Given the description of an element on the screen output the (x, y) to click on. 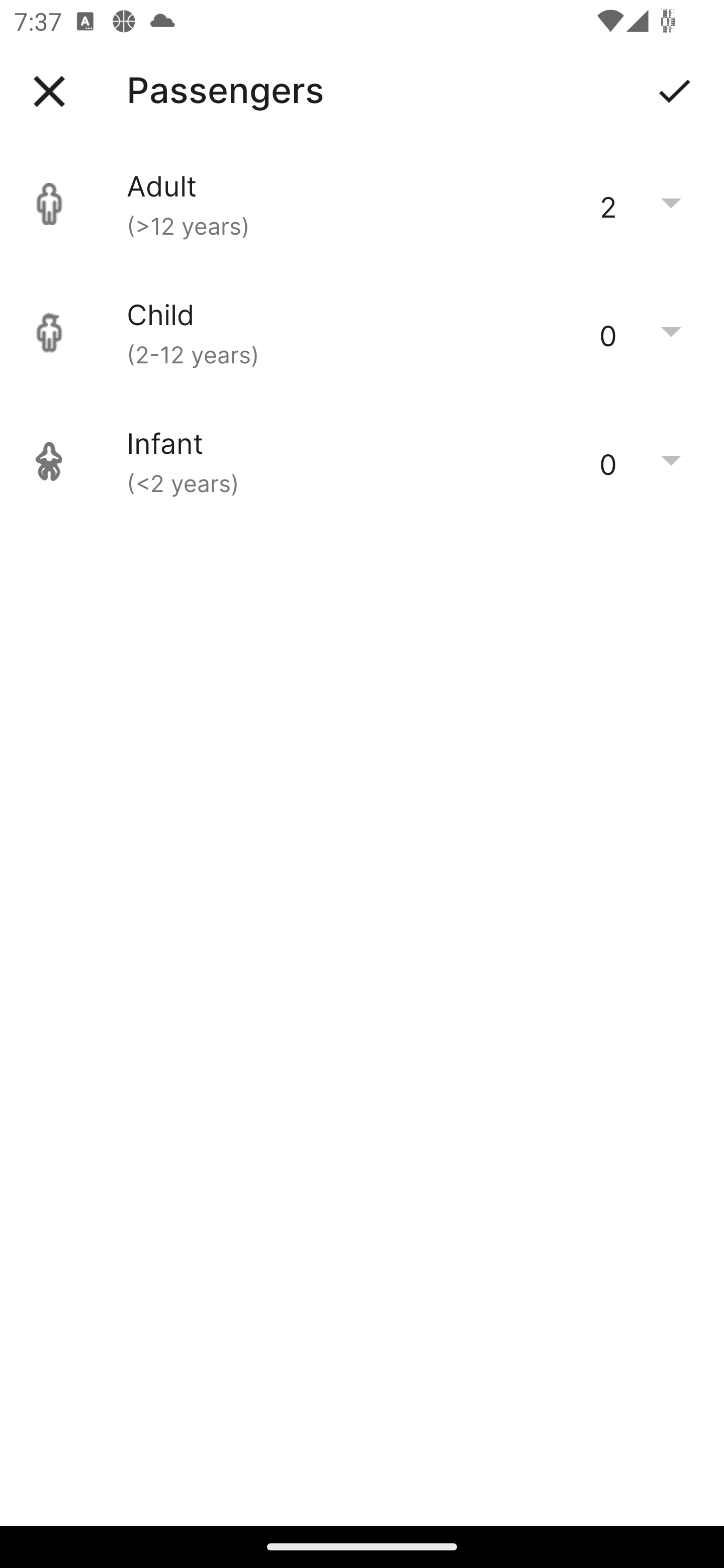
Adult (>12 years) 2 (362, 204)
Child (2-12 years) 0 (362, 332)
Infant (<2 years) 0 (362, 461)
